Given the description of an element on the screen output the (x, y) to click on. 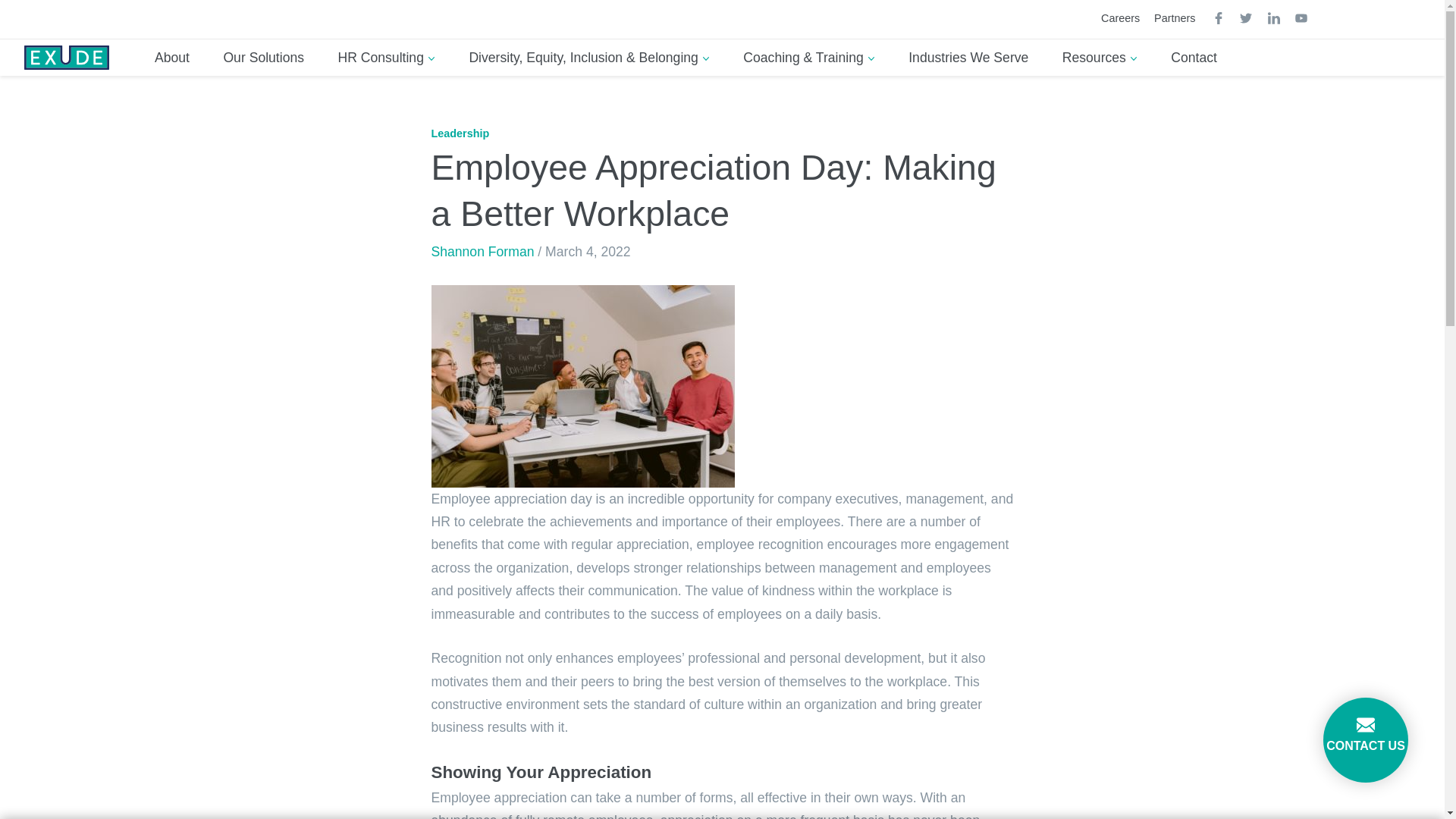
Industries We Serve (968, 57)
Posts by Shannon Forman (482, 251)
Our Solutions (263, 57)
Partners (1180, 18)
HR Consulting (385, 57)
About (172, 57)
Resources (1099, 57)
Search (1426, 24)
Search (1426, 24)
Search (1426, 24)
